Given the description of an element on the screen output the (x, y) to click on. 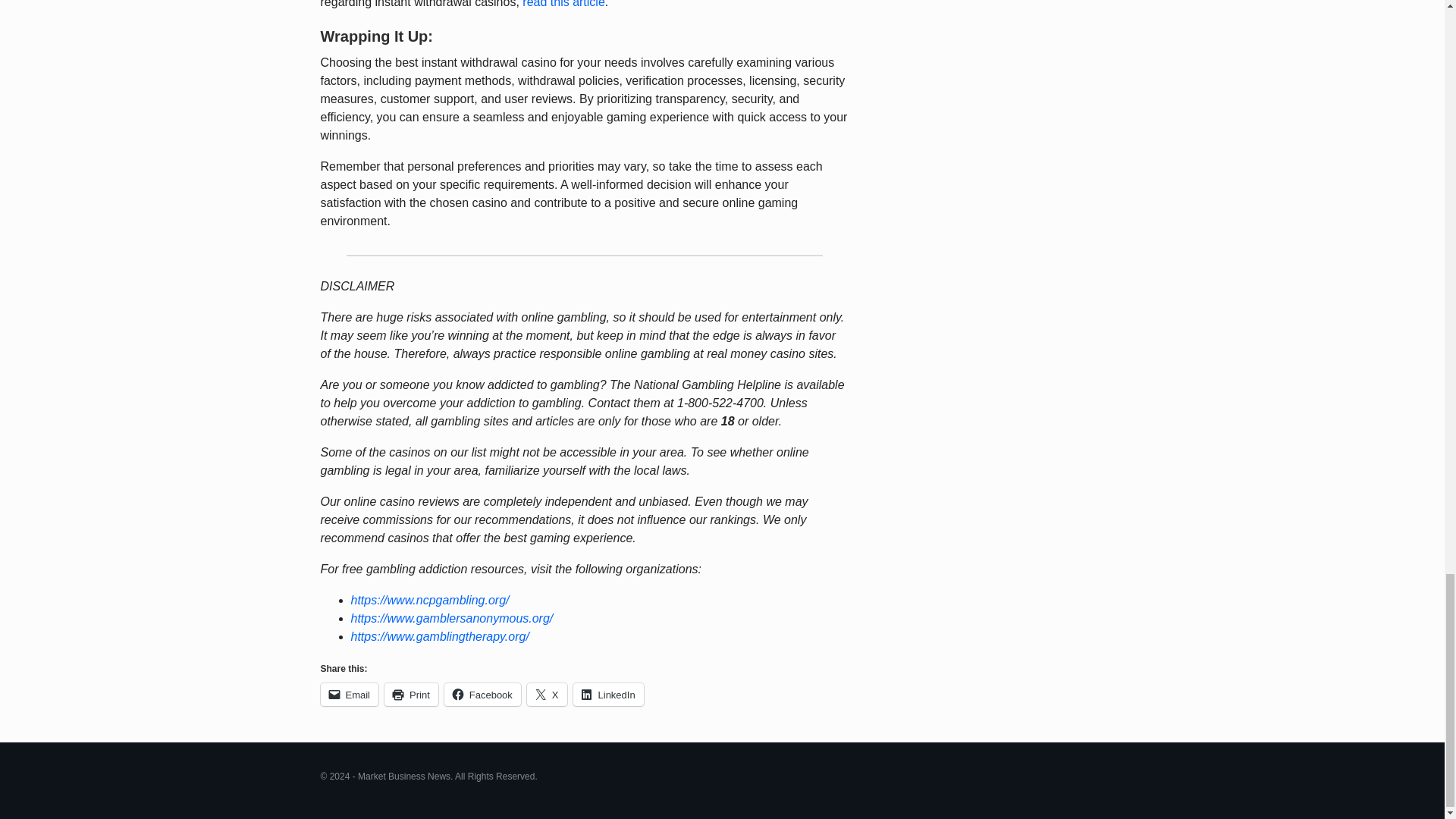
Click to email a link to a friend (349, 694)
Facebook (482, 694)
Click to share on Facebook (482, 694)
Email (349, 694)
X (547, 694)
Click to print (411, 694)
Click to share on X (547, 694)
Click to share on LinkedIn (608, 694)
LinkedIn (608, 694)
Print (411, 694)
read this article (563, 4)
